Given the description of an element on the screen output the (x, y) to click on. 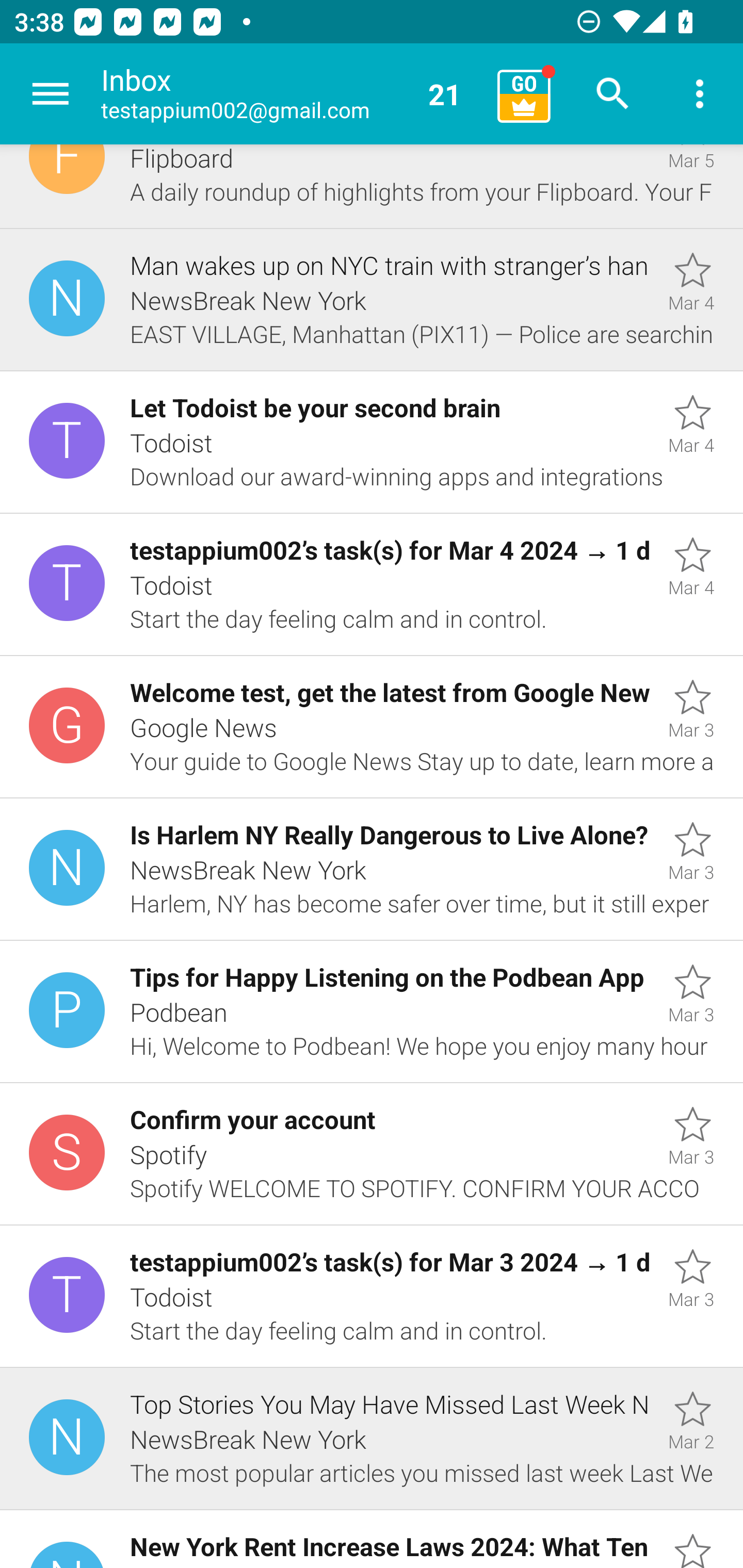
Navigate up (50, 93)
Inbox testappium002@gmail.com 21 (291, 93)
Search (612, 93)
More options (699, 93)
